Given the description of an element on the screen output the (x, y) to click on. 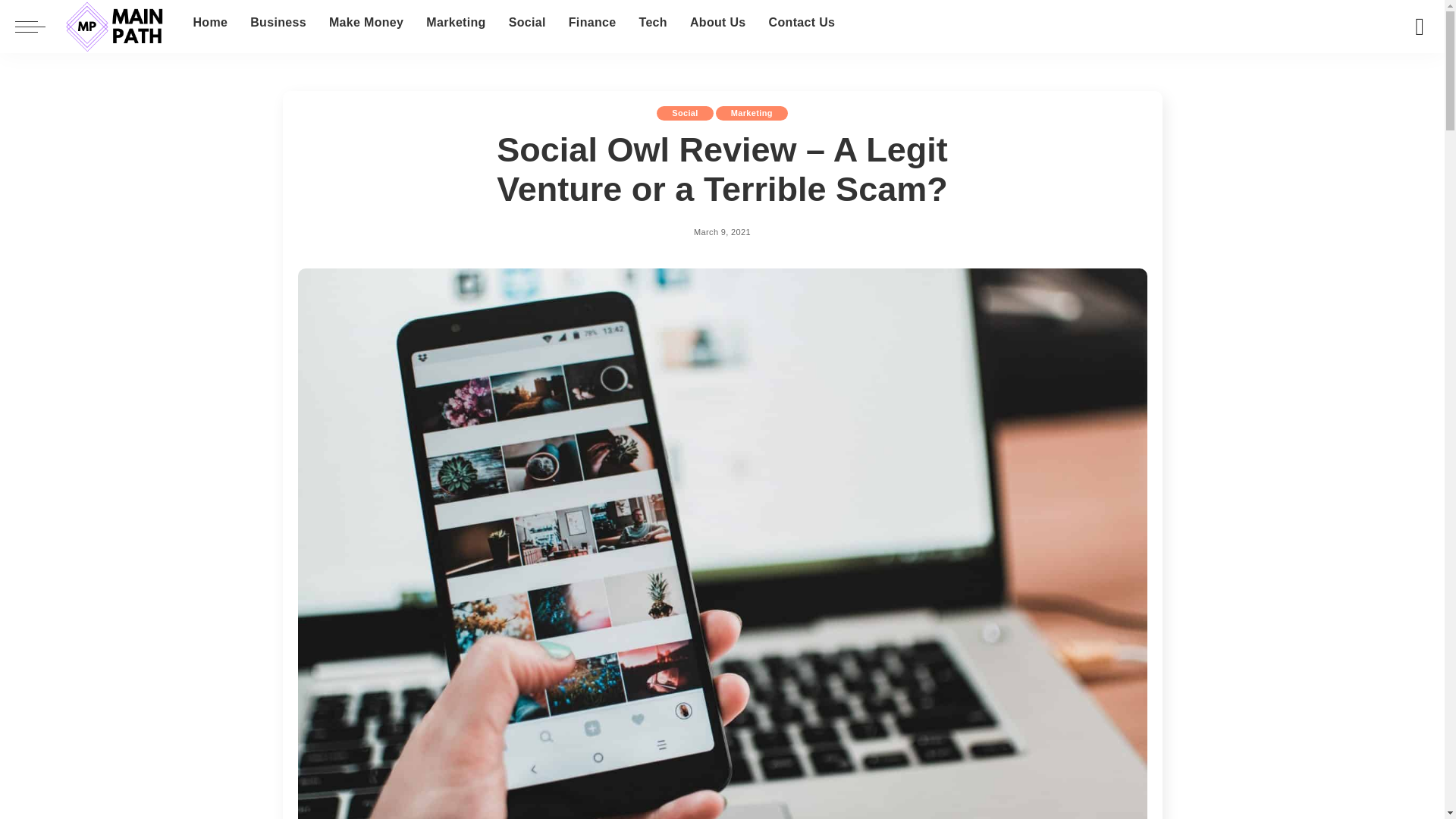
Make Money (365, 22)
Contact Us (802, 22)
Home (209, 22)
Search (1419, 26)
Search (1408, 73)
About Us (717, 22)
Finance (592, 22)
Business (277, 22)
Social (527, 22)
Marketing (455, 22)
Tech (652, 22)
Main Path (115, 26)
